Given the description of an element on the screen output the (x, y) to click on. 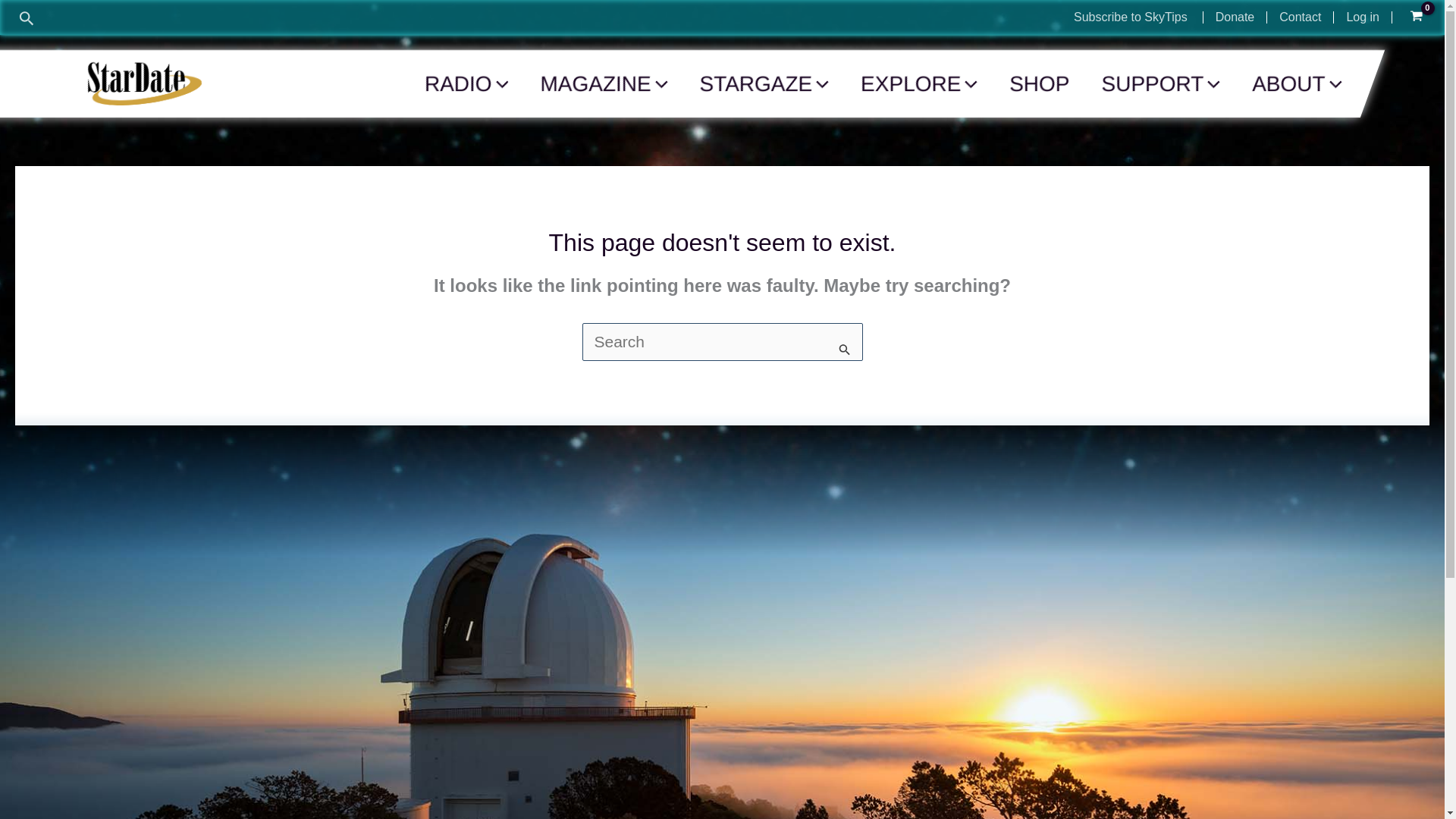
RADIO (464, 82)
Donate (1235, 17)
STARGAZE (763, 82)
MAGAZINE (603, 82)
Log in (1362, 17)
SHOP (1038, 82)
EXPLORE (918, 82)
SUPPORT (1160, 82)
Contact (1299, 17)
